Given the description of an element on the screen output the (x, y) to click on. 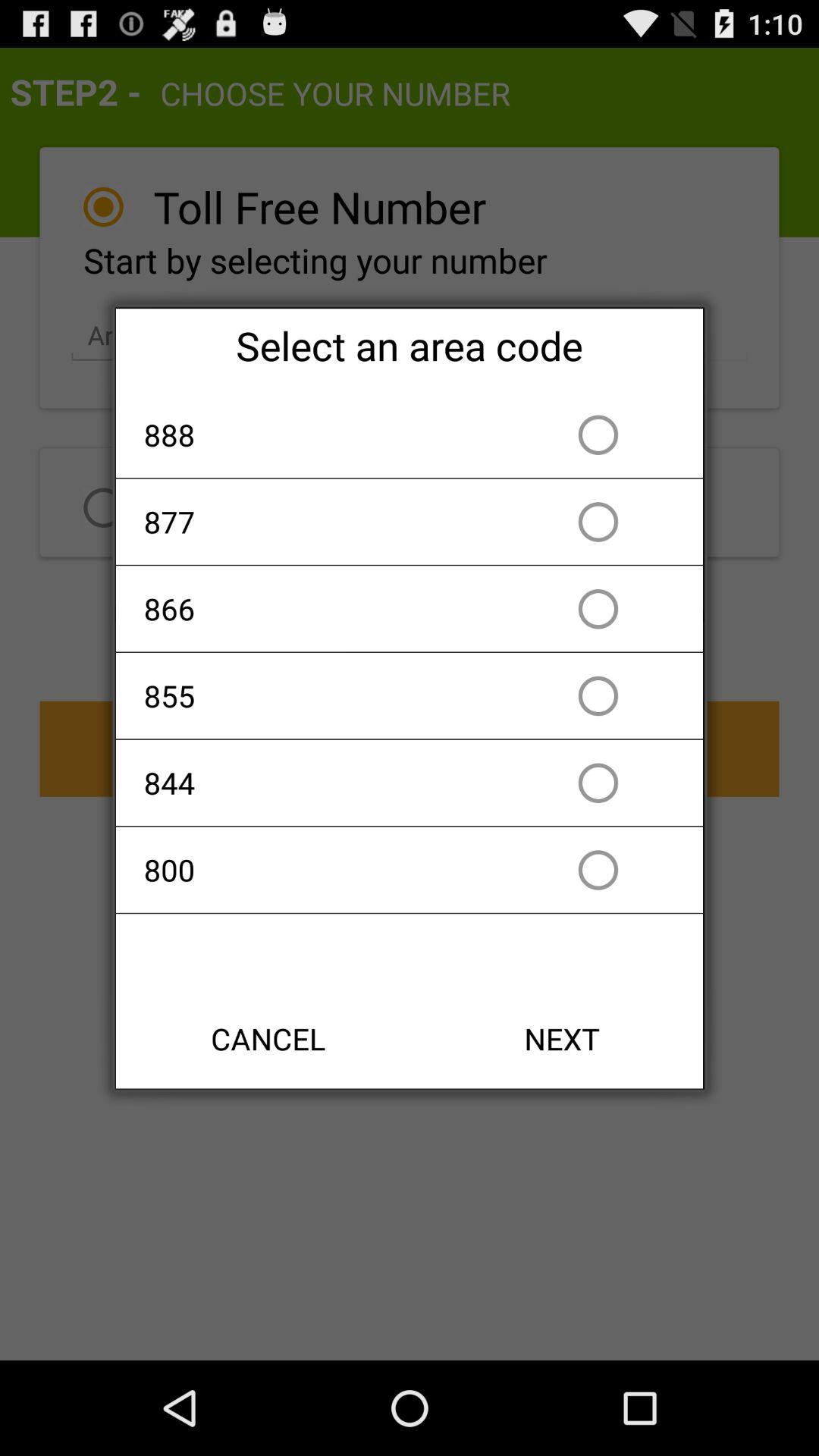
click item next to cancel icon (561, 1038)
